Given the description of an element on the screen output the (x, y) to click on. 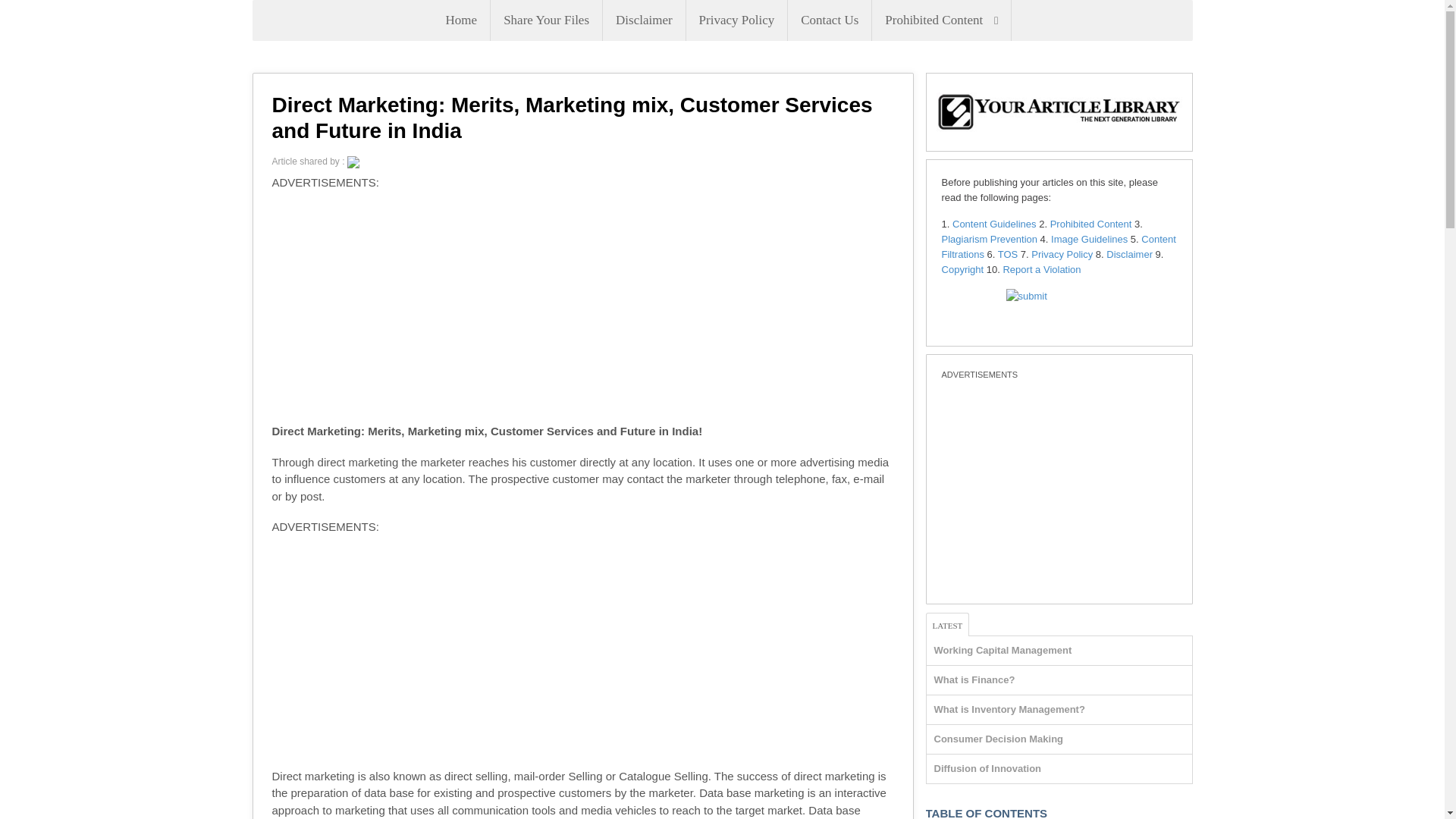
Privacy Policy (1061, 254)
LATEST (947, 624)
Report a Violation (1041, 269)
Content Guidelines (994, 224)
Advertisement (581, 655)
Share Your Files (546, 20)
Prohibited Content (941, 20)
Contact Us (828, 20)
Consumer Decision Making (998, 738)
Disclaimer (643, 20)
Consumer Decision Making (998, 738)
Copyright (963, 269)
What is Inventory Management? (1009, 708)
Home (461, 20)
Plagiarism Prevention (989, 238)
